Given the description of an element on the screen output the (x, y) to click on. 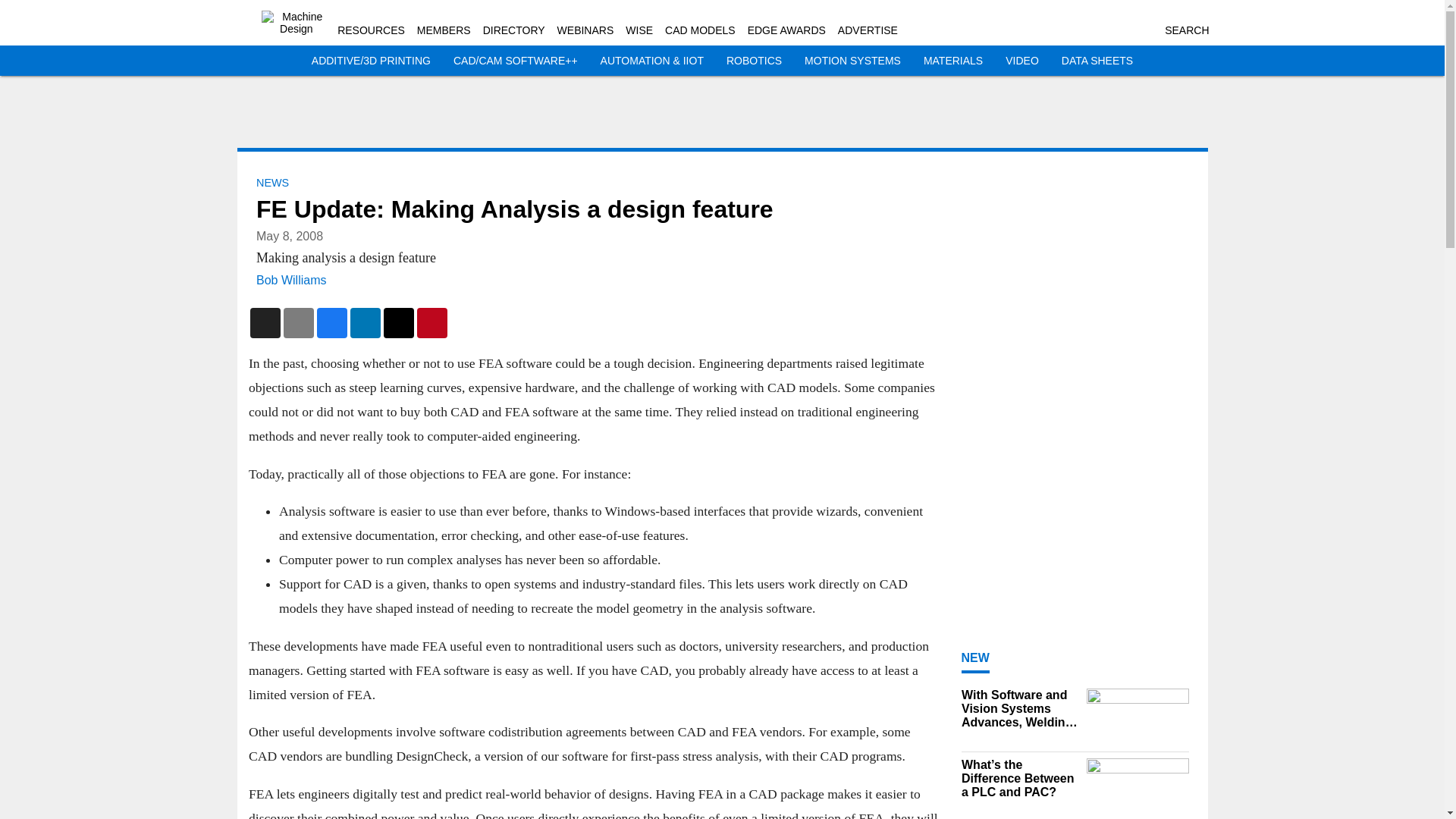
ADVERTISE (868, 30)
DATA SHEETS (1096, 60)
Bob Williams (291, 279)
DIRECTORY (513, 30)
SEARCH (1186, 30)
ROBOTICS (753, 60)
MATERIALS (952, 60)
WISE (639, 30)
NEWS (272, 182)
WEBINARS (585, 30)
